Given the description of an element on the screen output the (x, y) to click on. 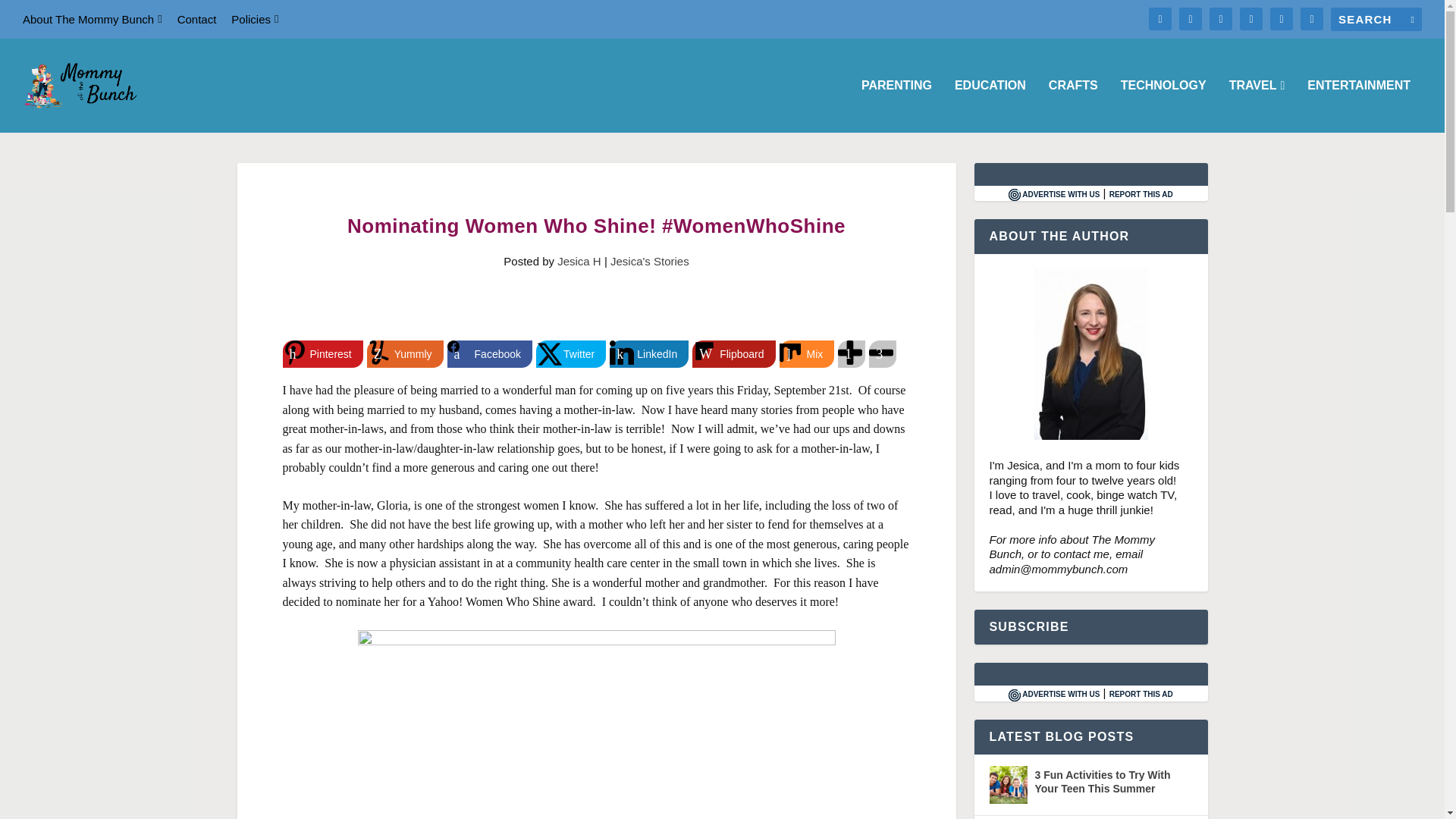
Share on Twitter (570, 353)
Mix (806, 353)
Share on More Button (851, 353)
About The Mommy Bunch (92, 19)
Contact (196, 19)
Jesica's Stories (649, 260)
EDUCATION (990, 105)
Share on LinkedIn (649, 353)
Jesica H (579, 260)
Twitter (570, 353)
Share on Mix (806, 353)
LinkedIn (649, 353)
Share on Pinterest (322, 353)
yahoo (596, 724)
Policies (254, 19)
